Given the description of an element on the screen output the (x, y) to click on. 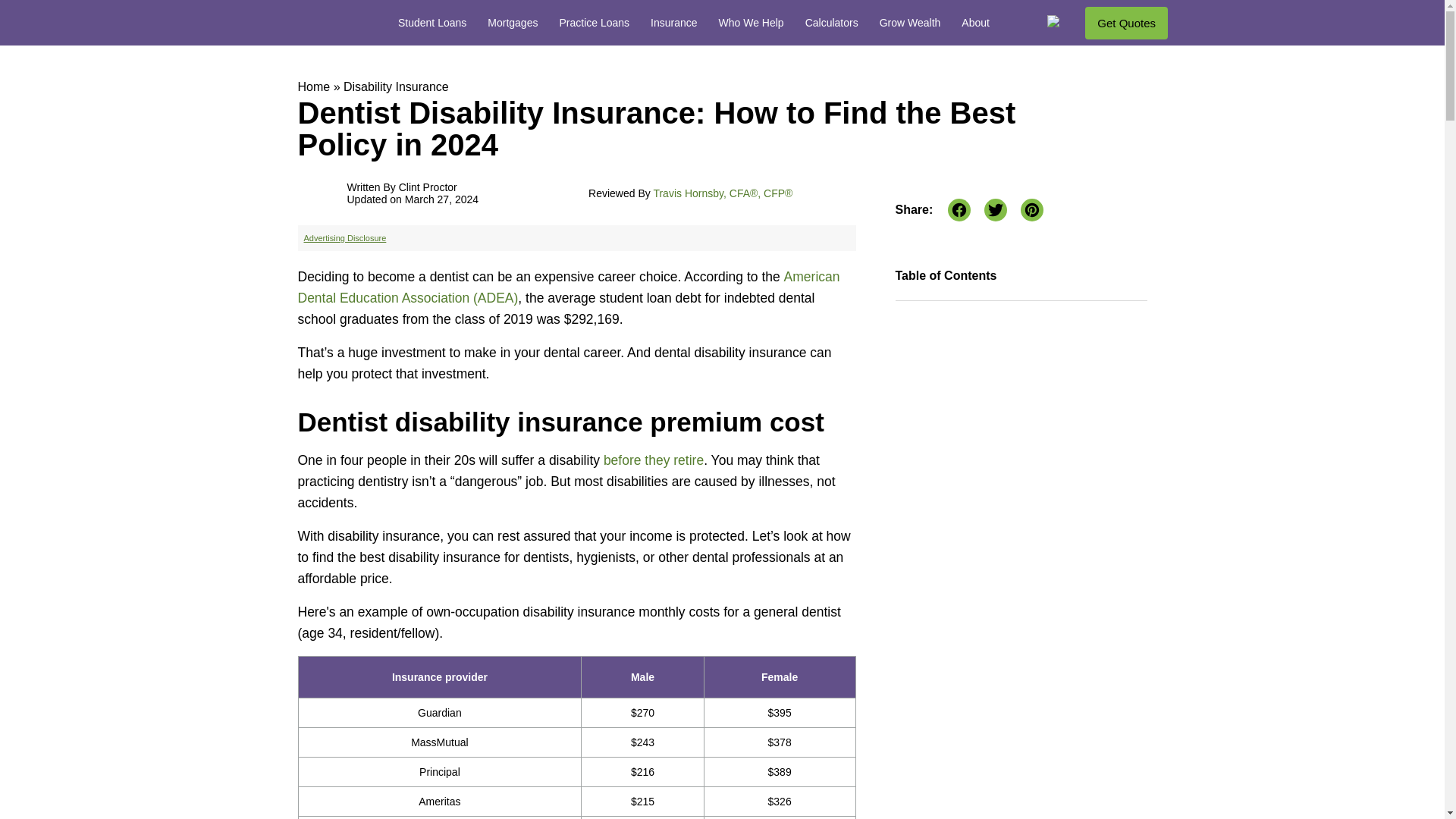
Student Loan Planner (322, 21)
Share on Facebook (959, 210)
Share on Twitter (995, 210)
Share on Pinterest (1031, 210)
